Given the description of an element on the screen output the (x, y) to click on. 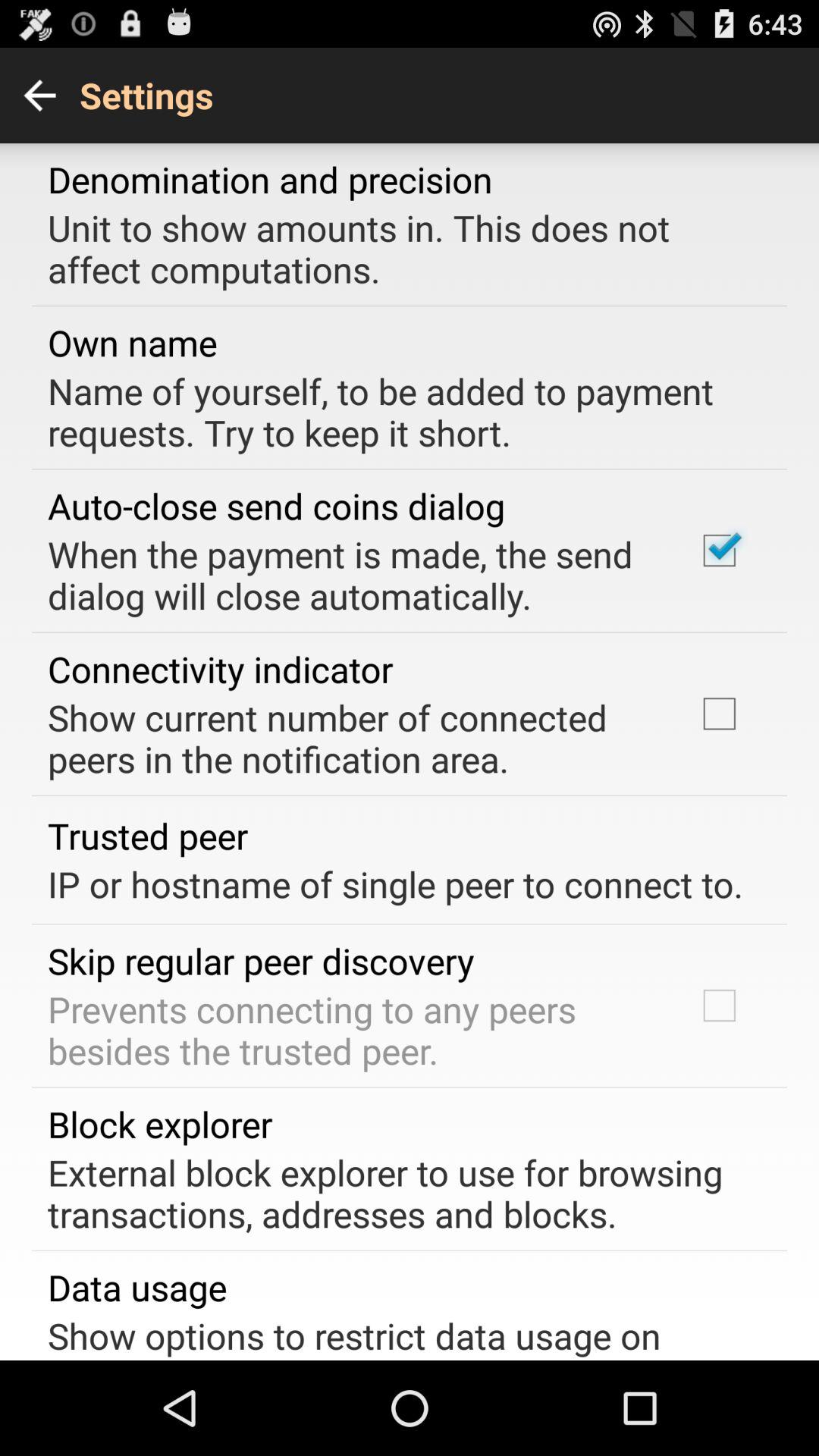
select the item below own name item (399, 411)
